Given the description of an element on the screen output the (x, y) to click on. 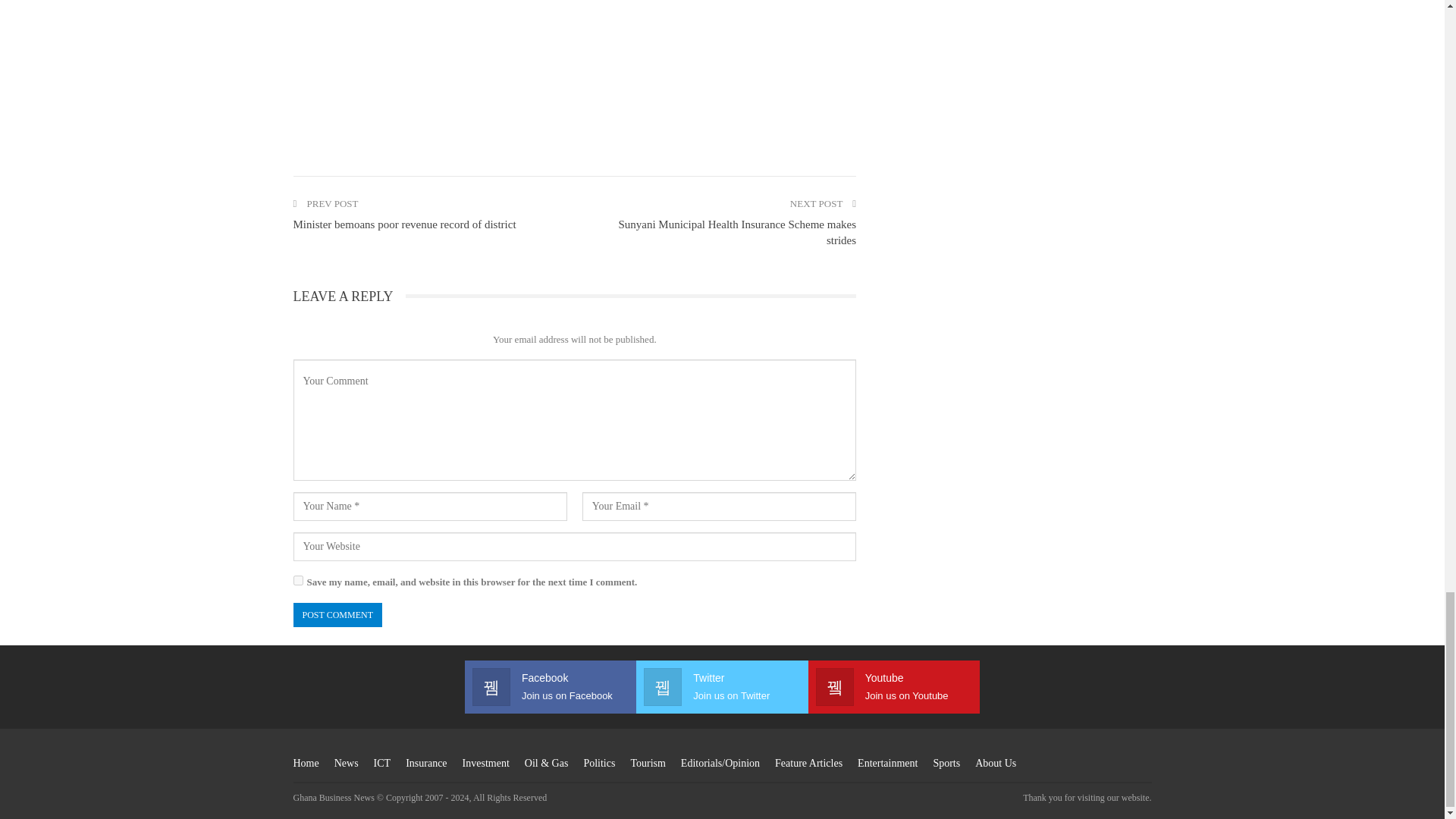
Post Comment (336, 614)
Sunyani Municipal Health Insurance Scheme makes strides (736, 232)
Minister bemoans poor revenue record of district (403, 224)
Post Comment (336, 614)
yes (297, 580)
